Given the description of an element on the screen output the (x, y) to click on. 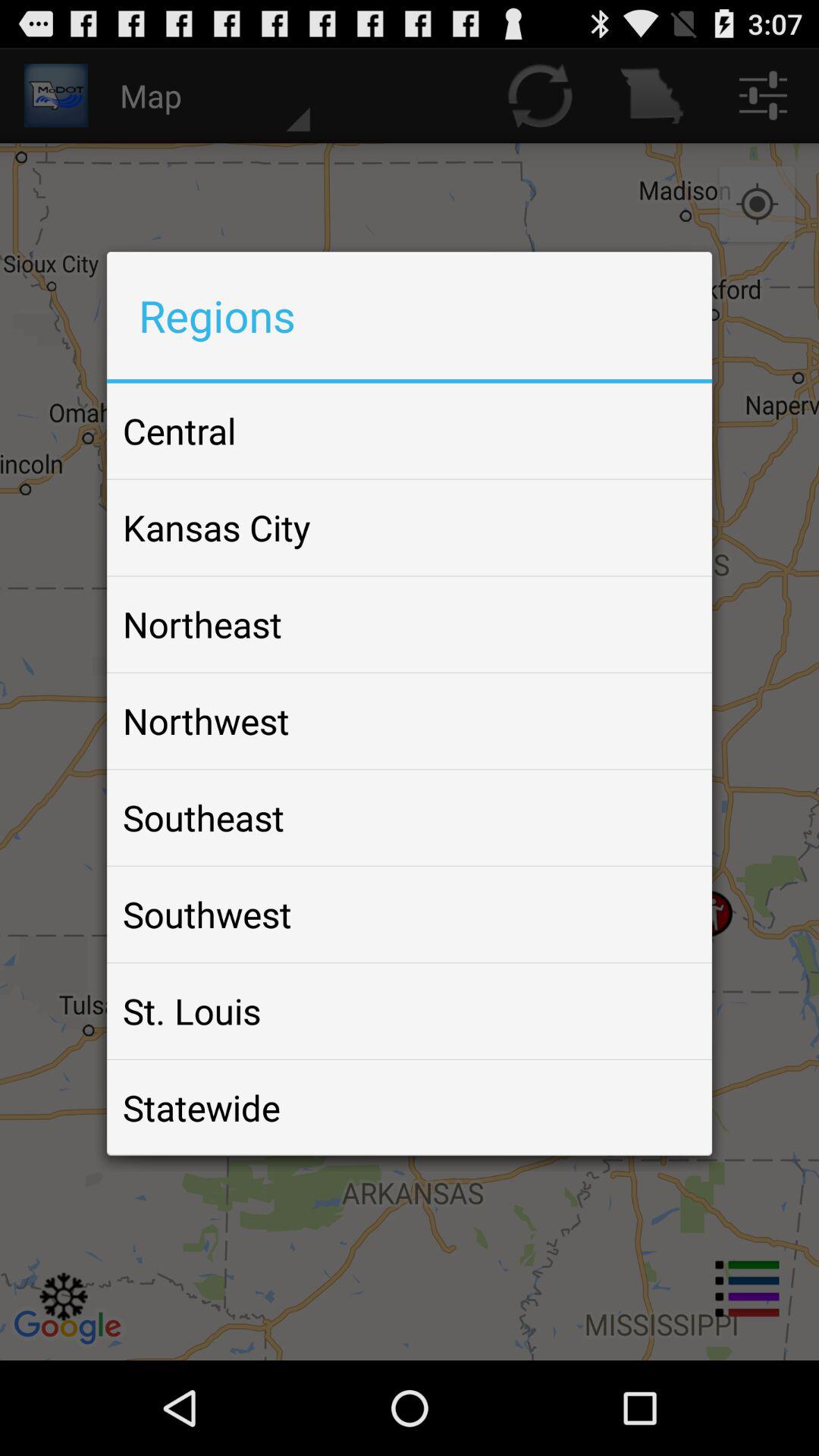
launch the icon below the northeast icon (205, 720)
